Given the description of an element on the screen output the (x, y) to click on. 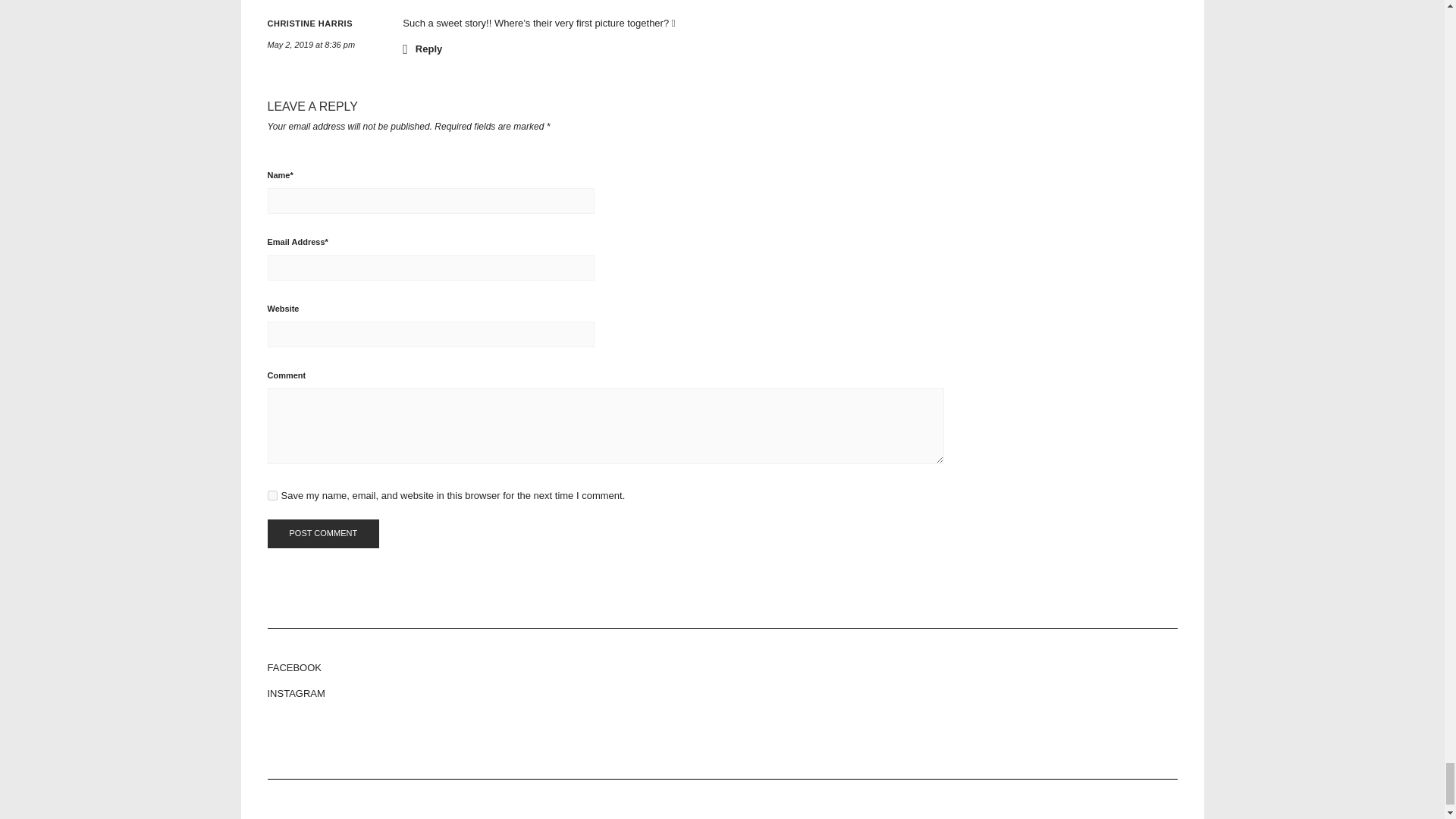
FACEBOOK (721, 667)
Reply (422, 48)
yes (271, 495)
May 2, 2019 at 8:36 pm (310, 44)
Post Comment (322, 533)
INSTAGRAM (721, 693)
Post Comment (322, 533)
